Given the description of an element on the screen output the (x, y) to click on. 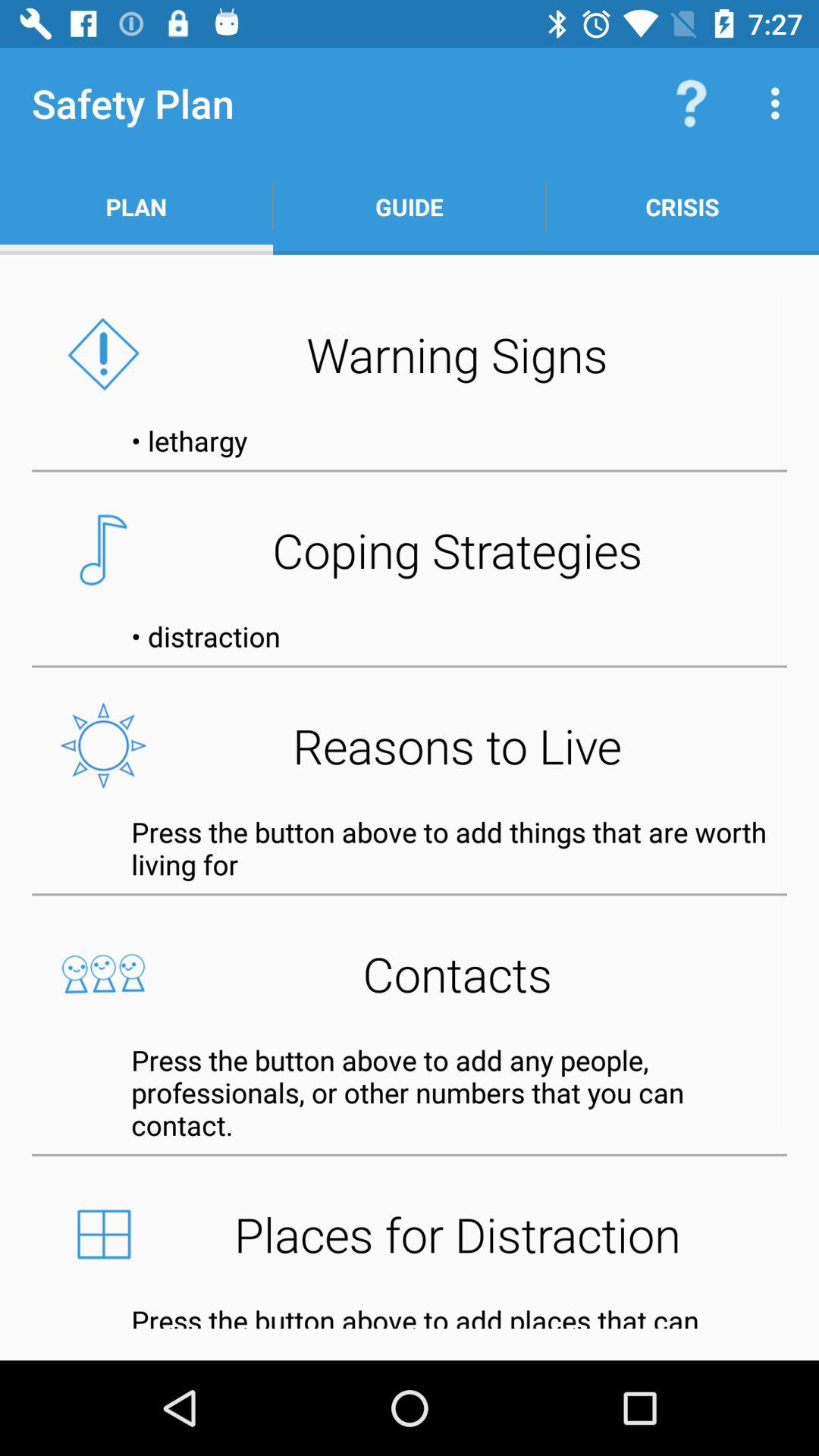
launch item above the press the button icon (409, 745)
